Given the description of an element on the screen output the (x, y) to click on. 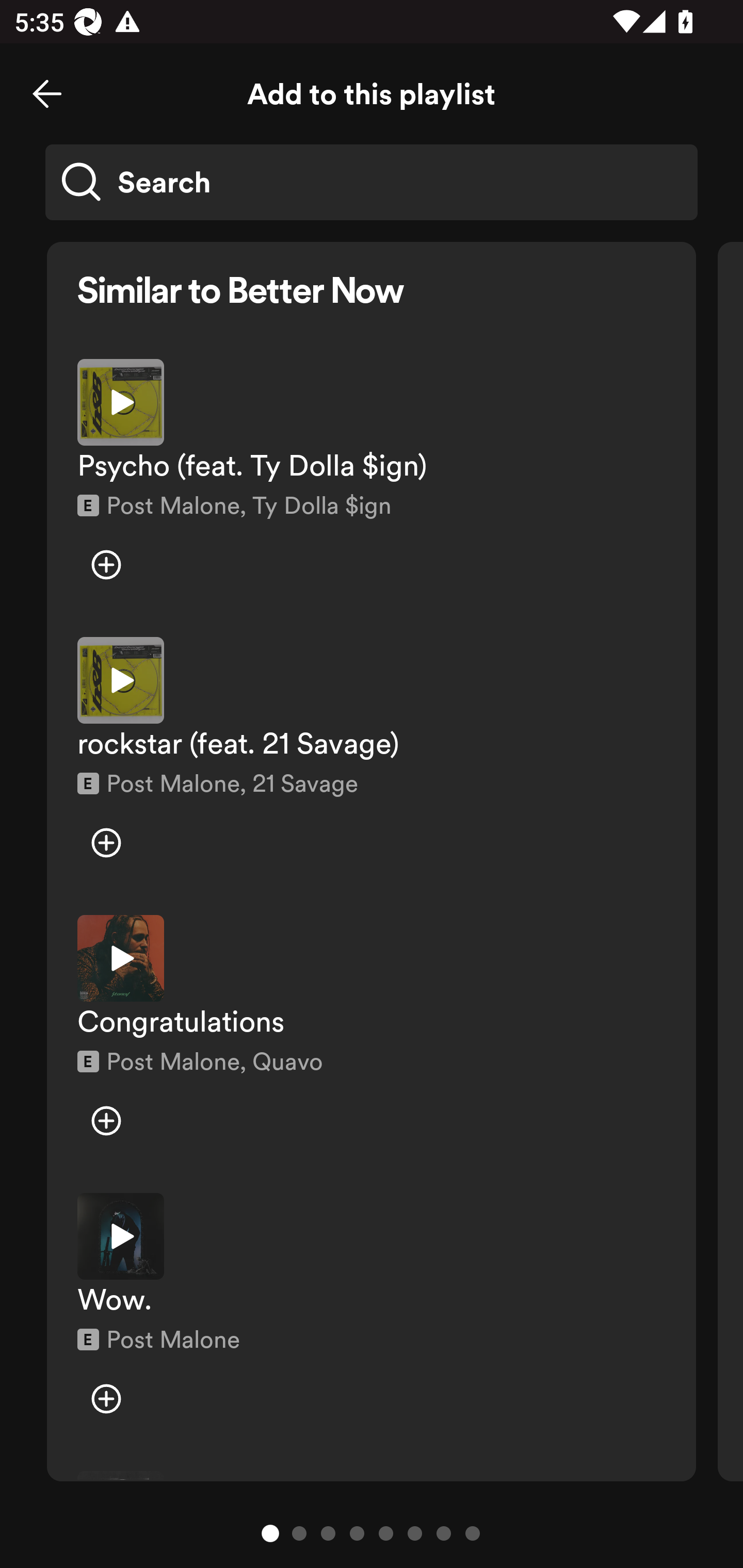
Close (46, 93)
Search (371, 181)
Play preview (120, 402)
Add item (106, 565)
Play preview (120, 680)
Add item (106, 842)
Play preview (120, 958)
Add item (106, 1120)
Play preview Wow. Explicit Post Malone Add item (371, 1317)
Play preview (120, 1236)
Add item (106, 1398)
